Given the description of an element on the screen output the (x, y) to click on. 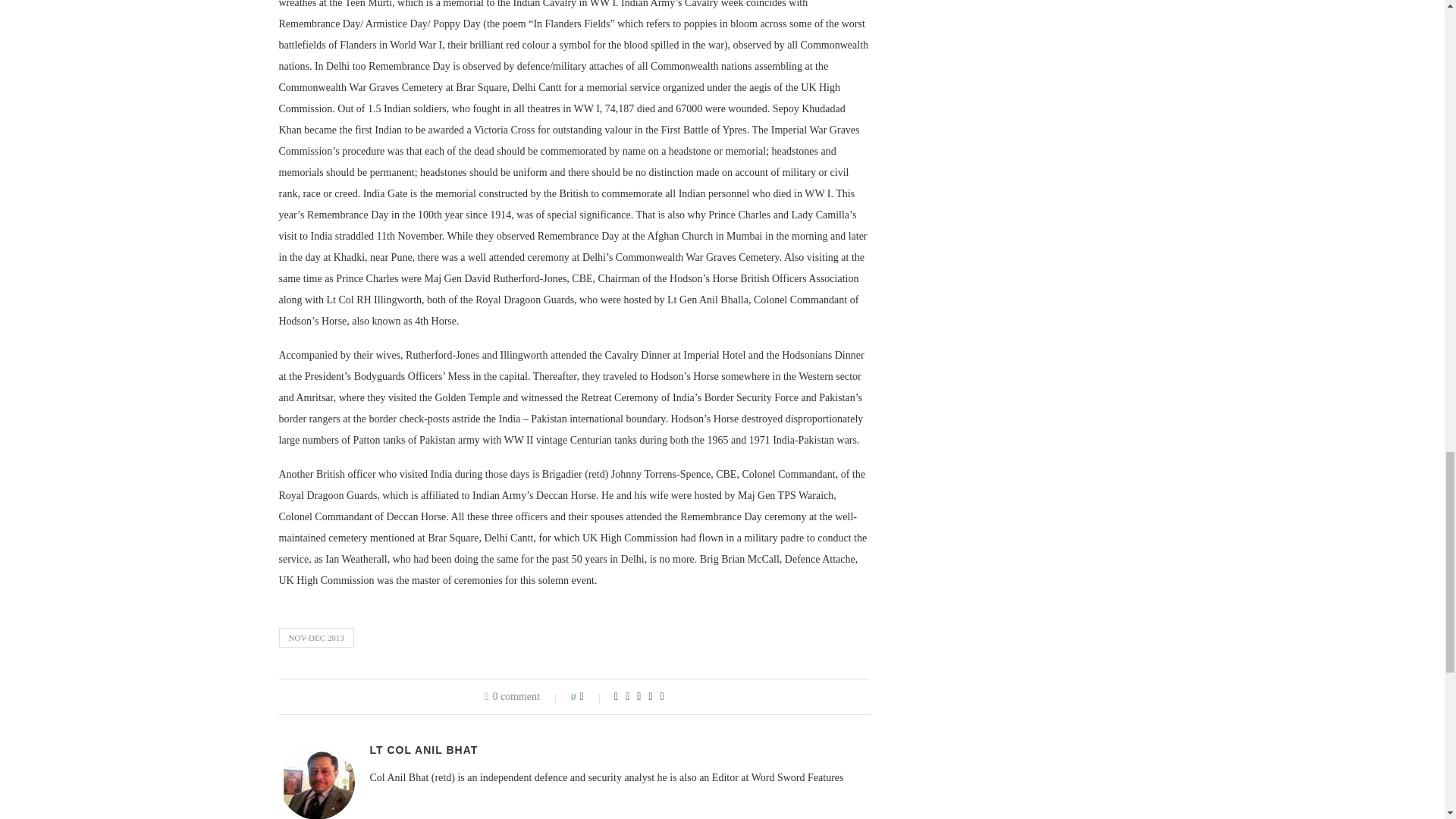
Author Lt Col Anil Bhat (424, 749)
NOV-DEC 2013 (316, 637)
Like (591, 696)
LT COL ANIL BHAT (424, 749)
